Given the description of an element on the screen output the (x, y) to click on. 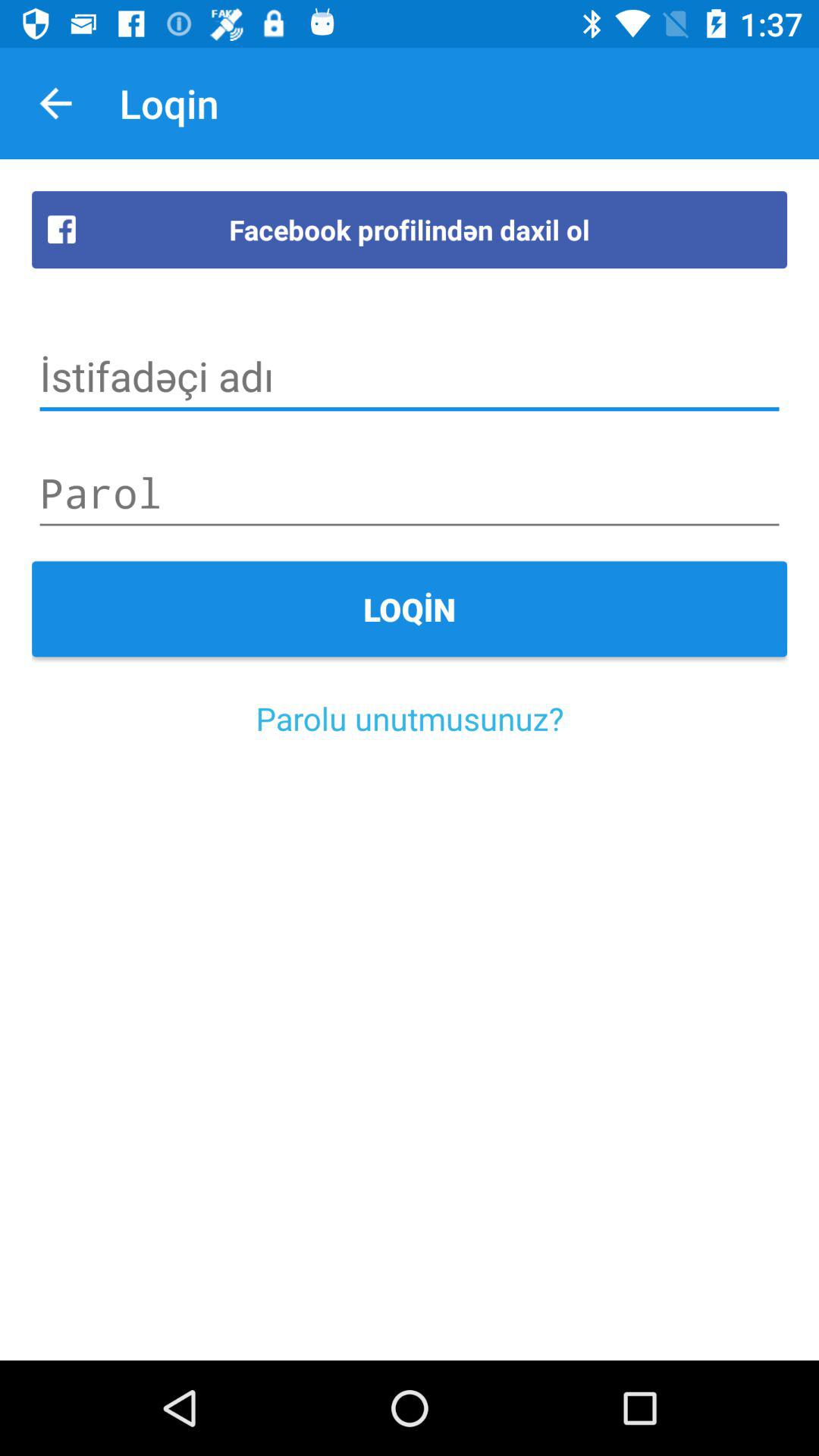
turn on parolu unutmusunuz? item (409, 717)
